Given the description of an element on the screen output the (x, y) to click on. 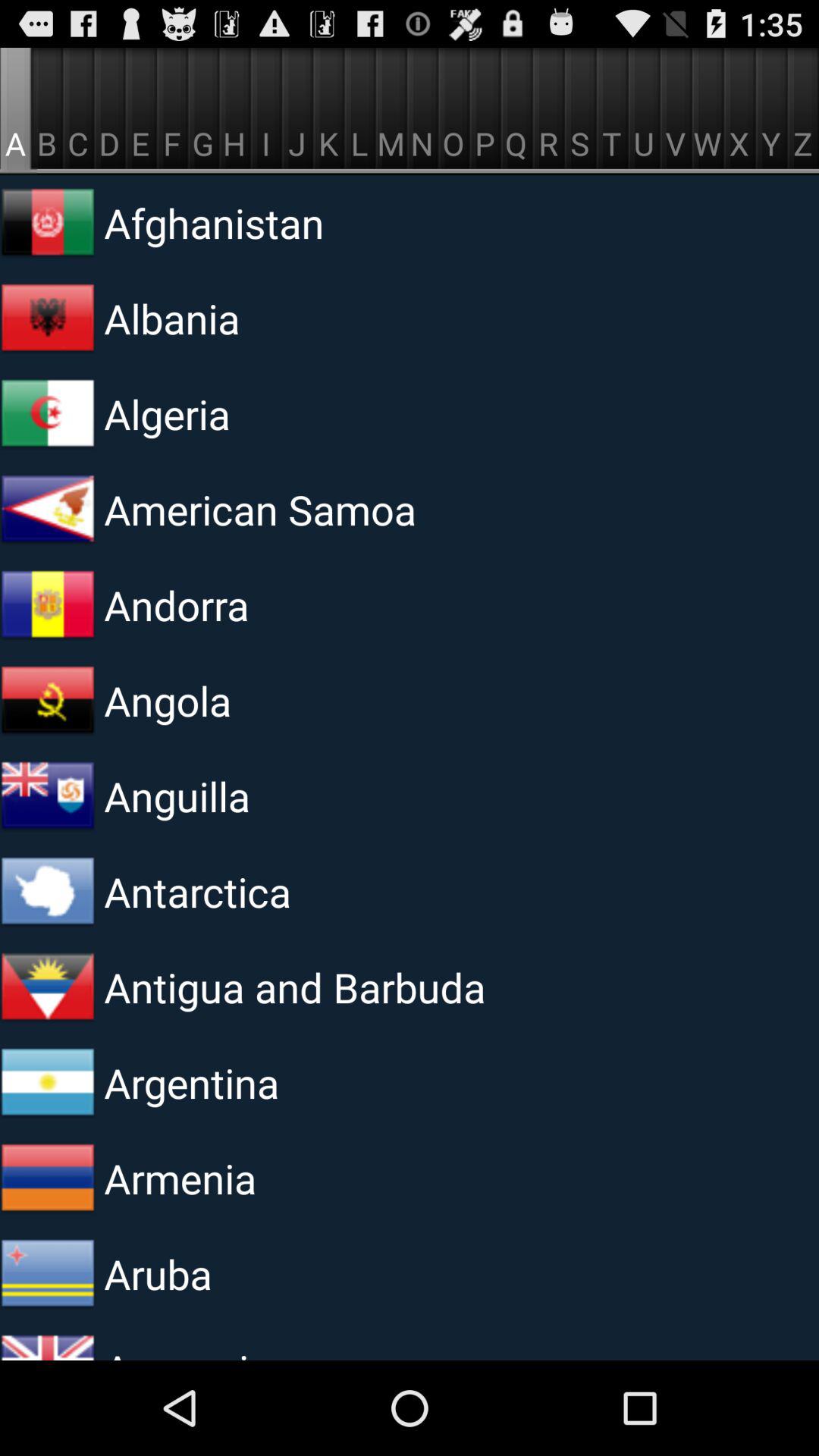
flip until the albania icon (290, 317)
